Given the description of an element on the screen output the (x, y) to click on. 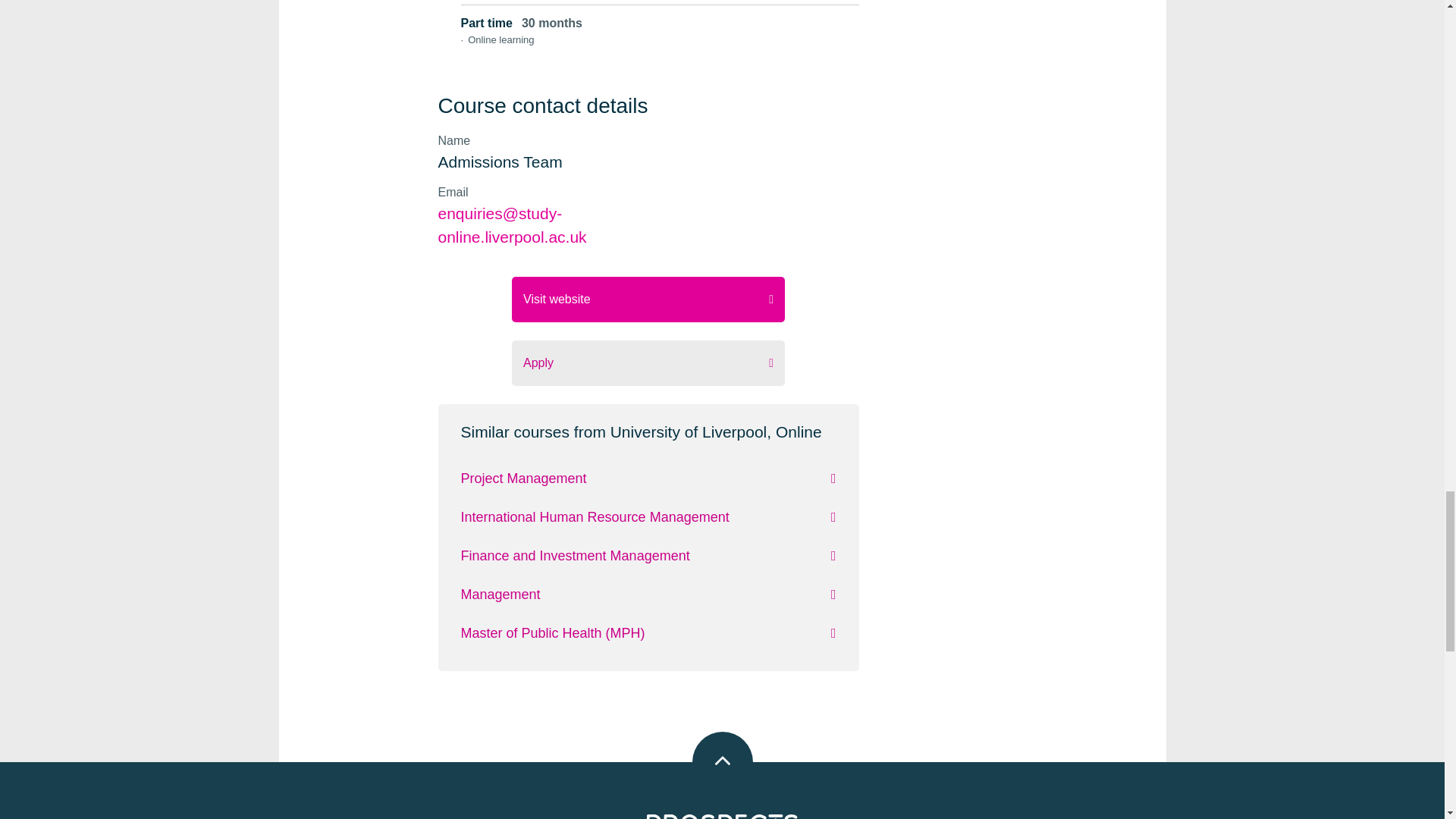
Back to top (721, 762)
